Given the description of an element on the screen output the (x, y) to click on. 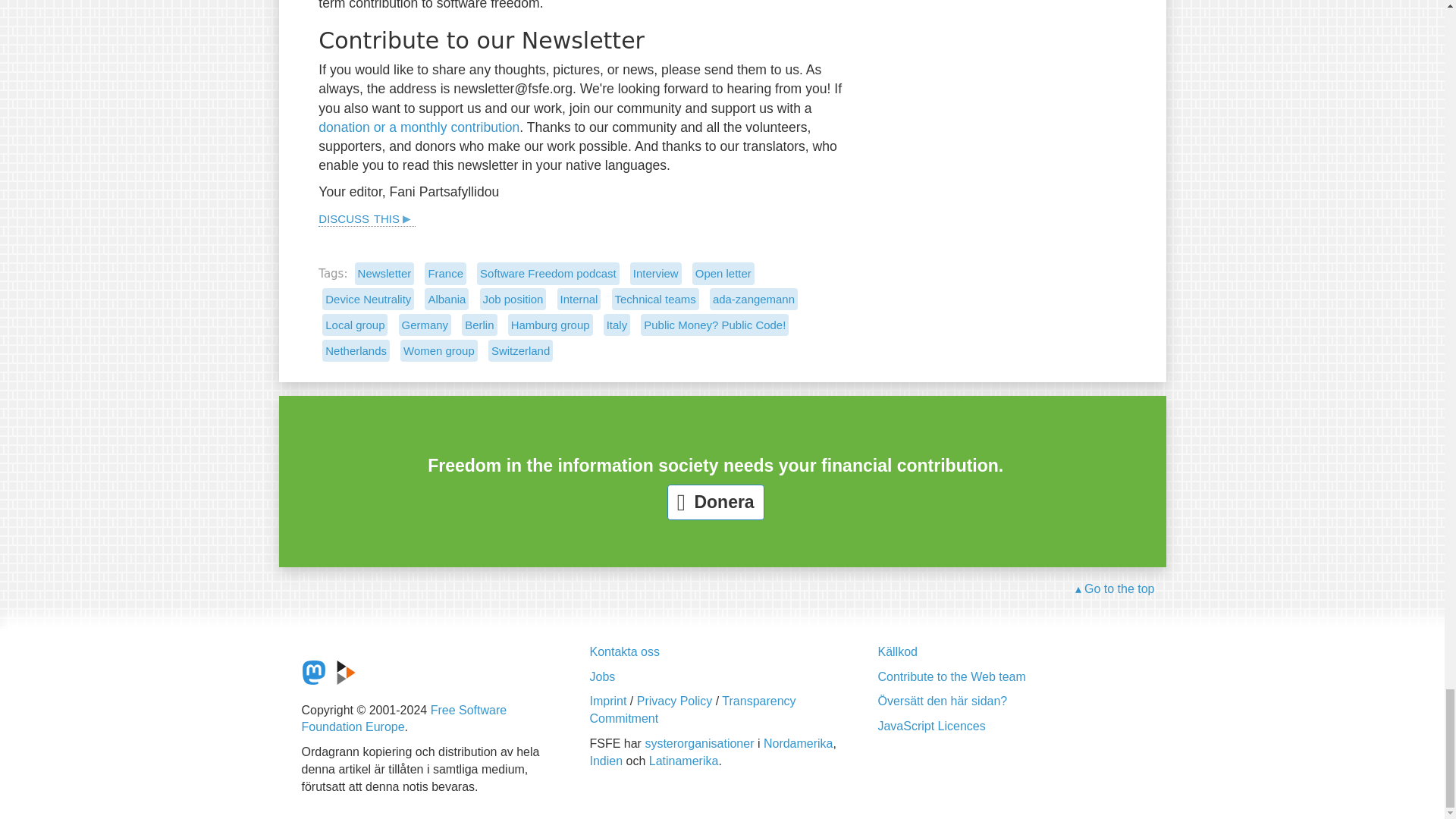
Peertube (345, 672)
Mastodon (313, 672)
